Given the description of an element on the screen output the (x, y) to click on. 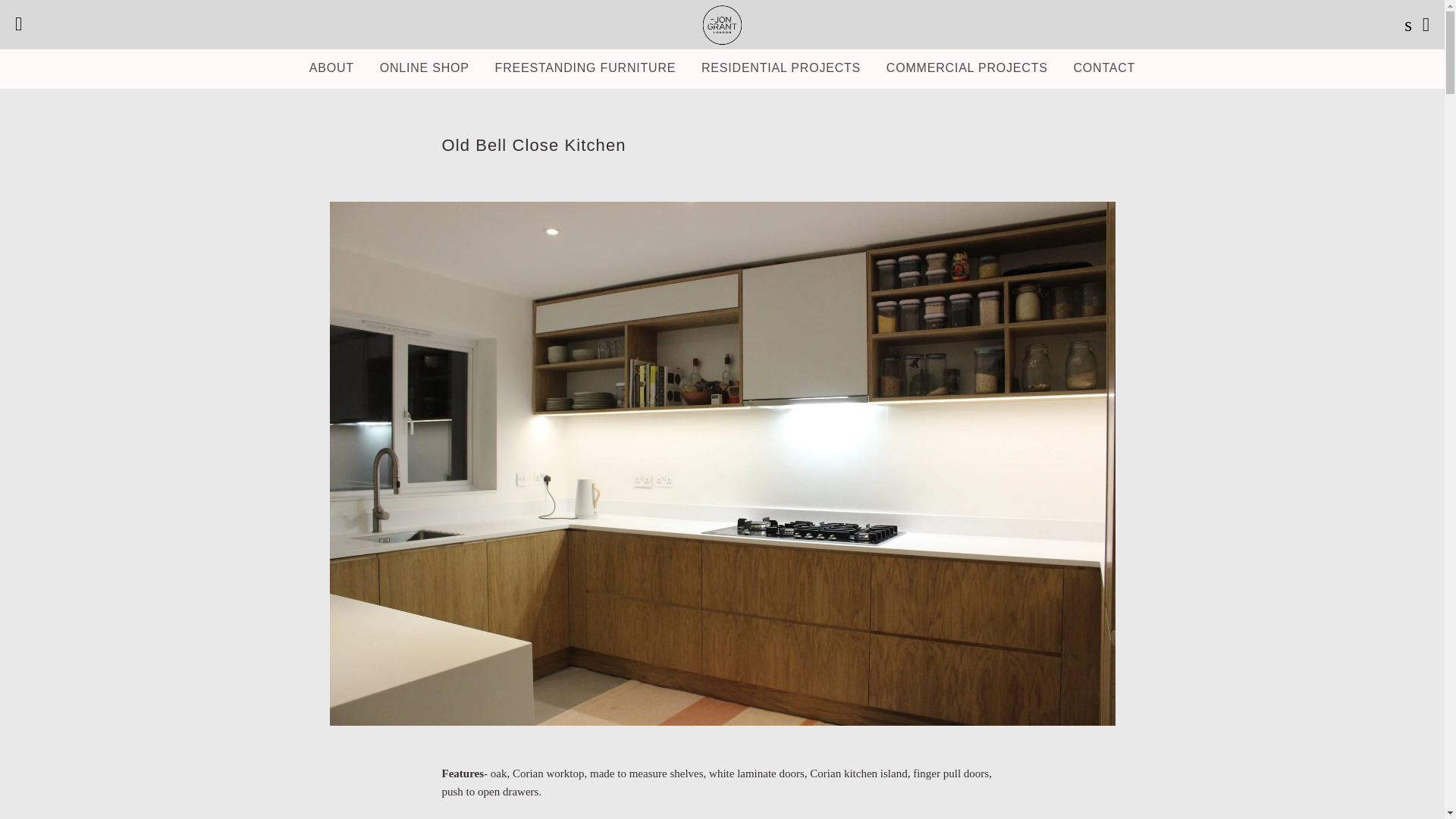
ONLINE SHOP (424, 67)
RESIDENTIAL PROJECTS (781, 67)
ABOUT (331, 67)
FREESTANDING FURNITURE (585, 67)
CONTACT (1104, 67)
COMMERCIAL PROJECTS (967, 67)
